Given the description of an element on the screen output the (x, y) to click on. 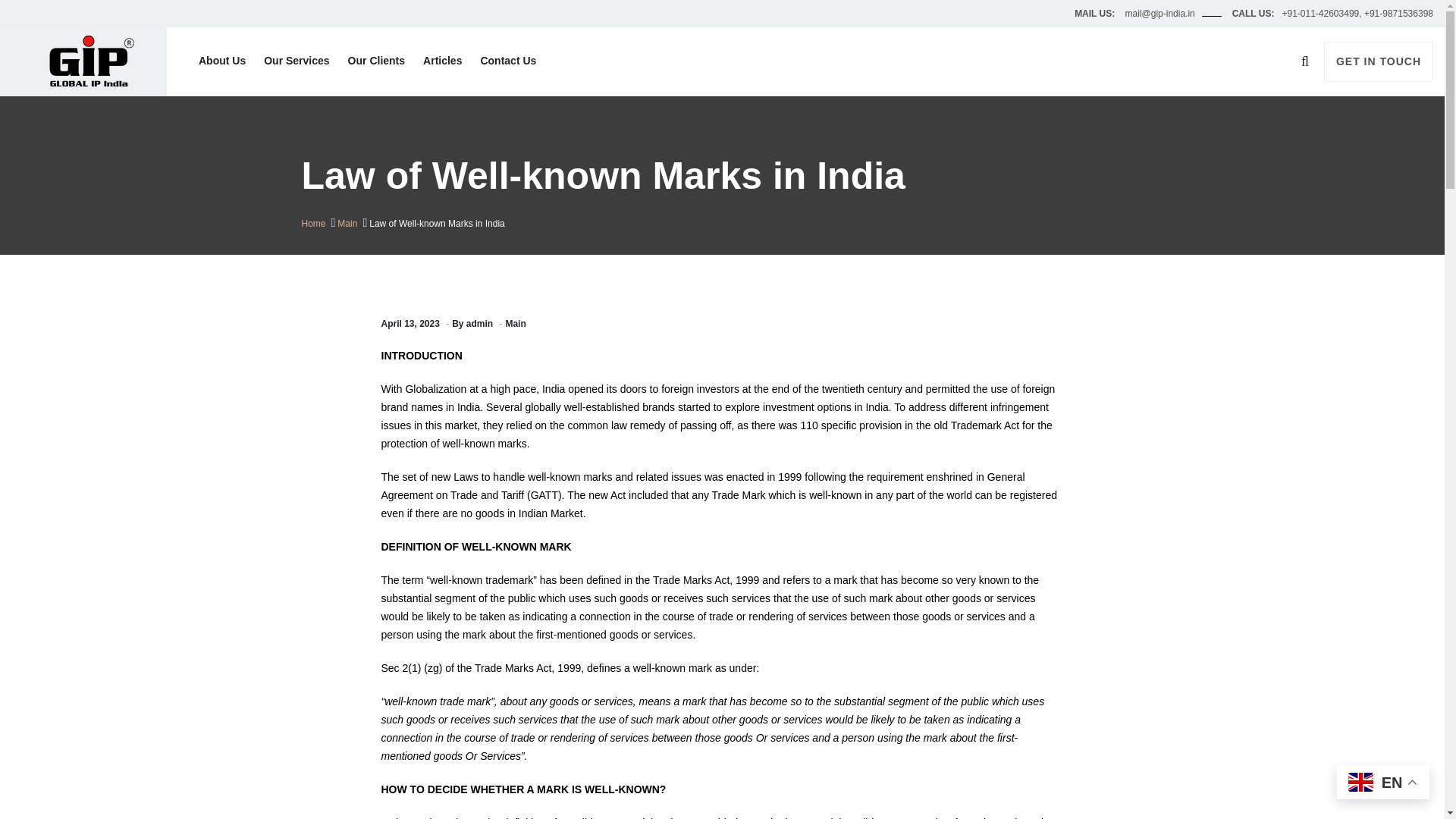
Main (346, 223)
Home (313, 223)
About Us (221, 60)
Main (515, 323)
Contact Us (507, 60)
GET IN TOUCH (1377, 60)
admin (479, 323)
Home (313, 223)
Law of Well-known Marks in India (437, 223)
Our Services (295, 60)
Our Clients (376, 60)
